Given the description of an element on the screen output the (x, y) to click on. 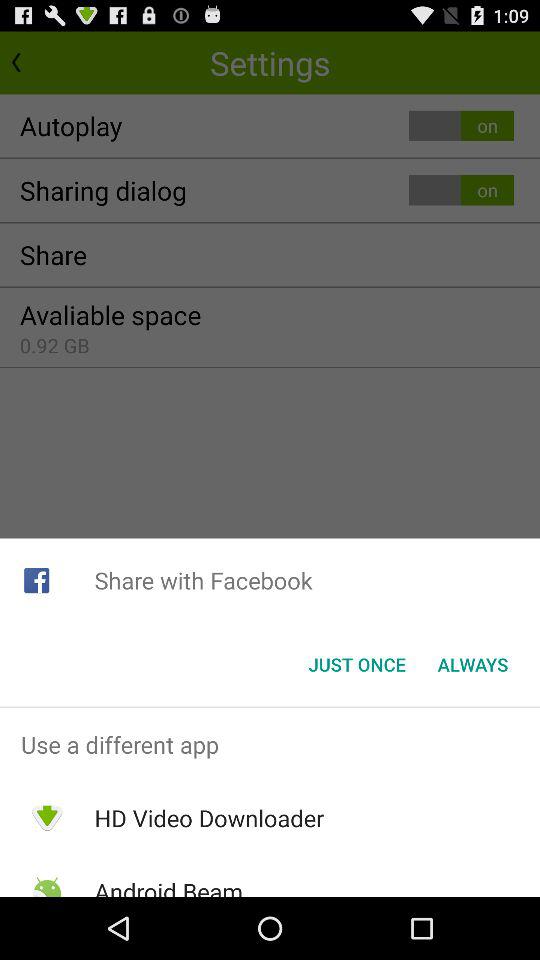
flip until use a different (270, 744)
